Given the description of an element on the screen output the (x, y) to click on. 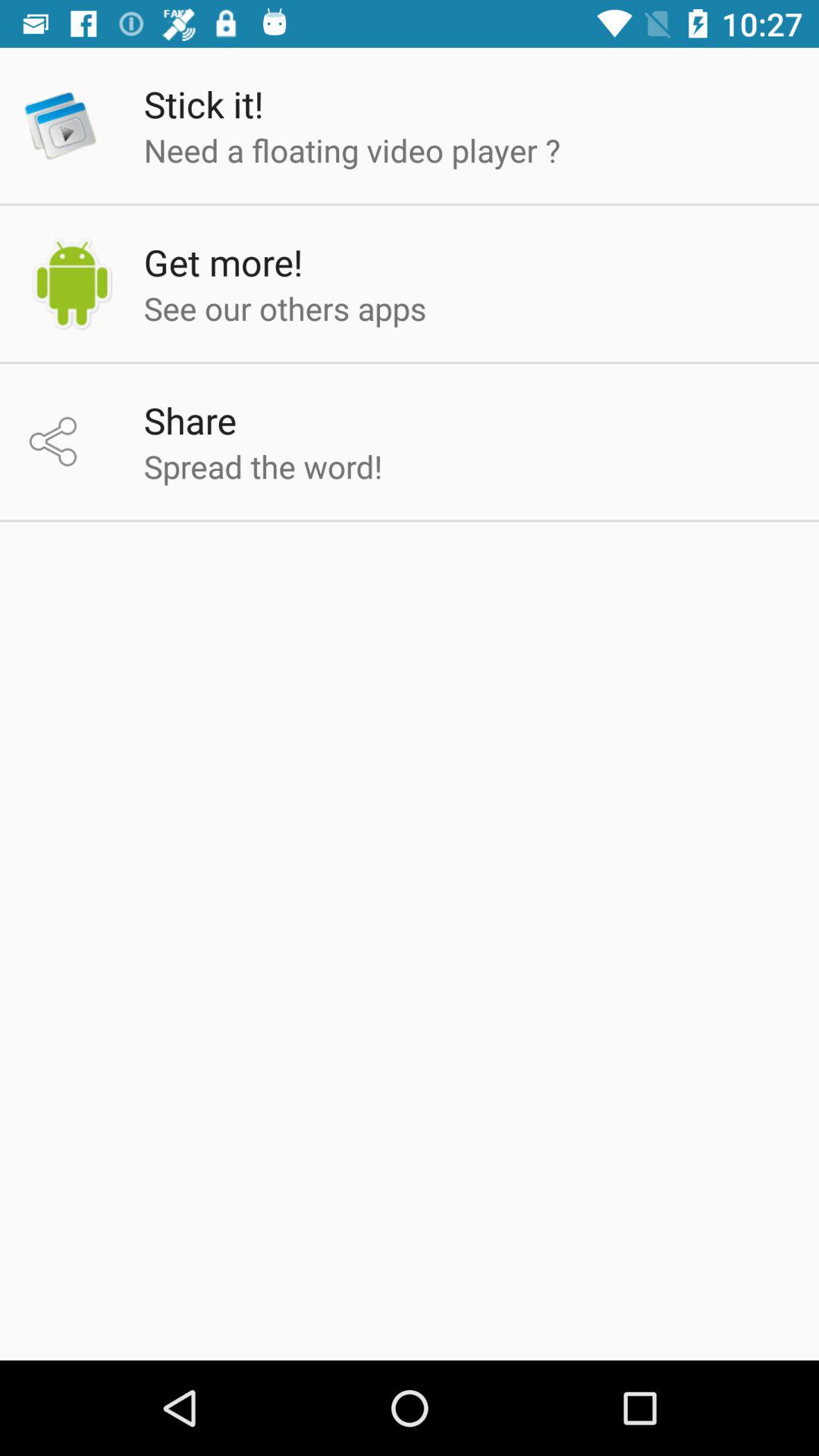
launch item below stick it! item (351, 149)
